Given the description of an element on the screen output the (x, y) to click on. 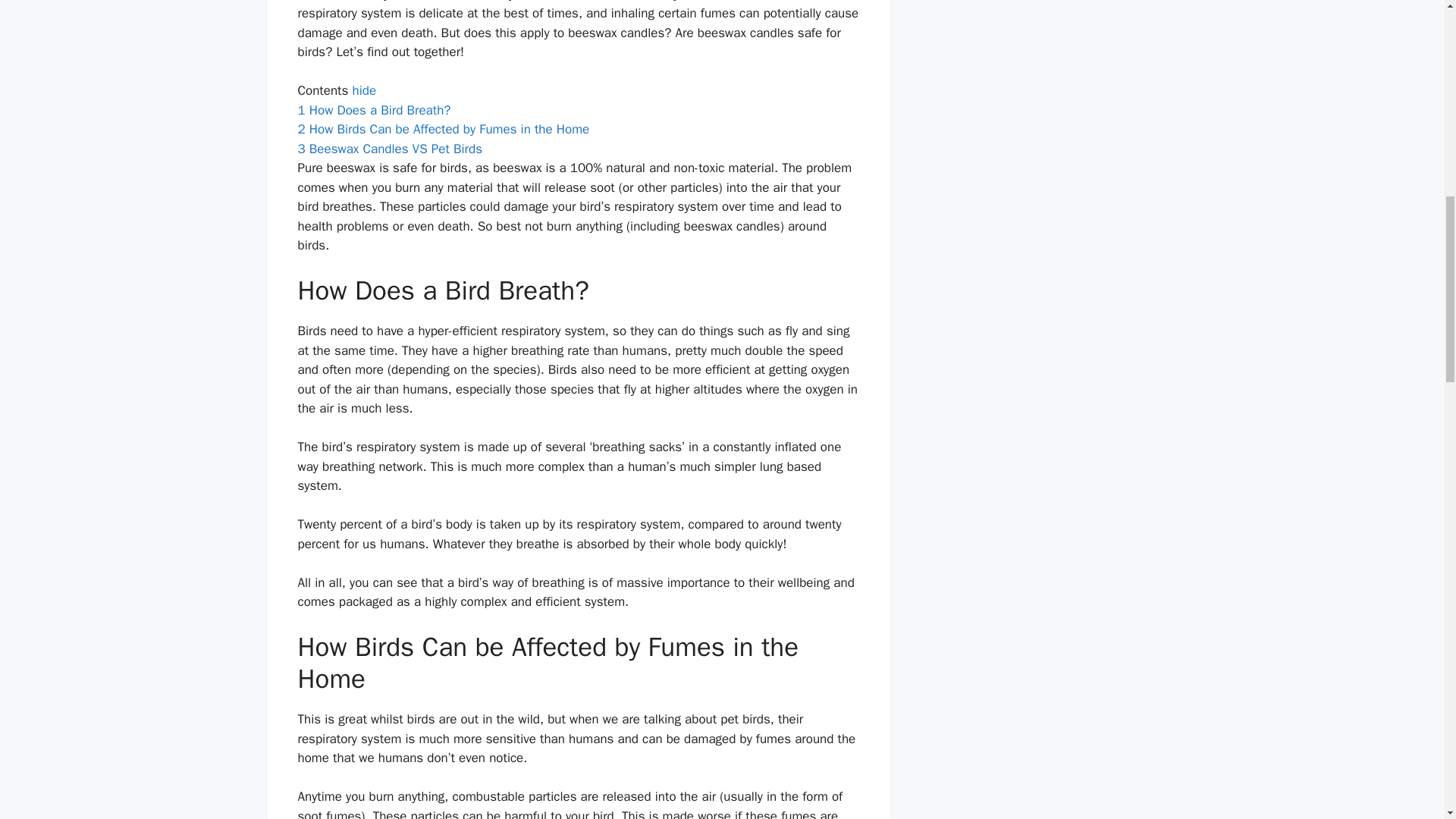
hide (363, 90)
3 Beeswax Candles VS Pet Birds (389, 148)
1 How Does a Bird Breath? (373, 109)
2 How Birds Can be Affected by Fumes in the Home (443, 129)
